Given the description of an element on the screen output the (x, y) to click on. 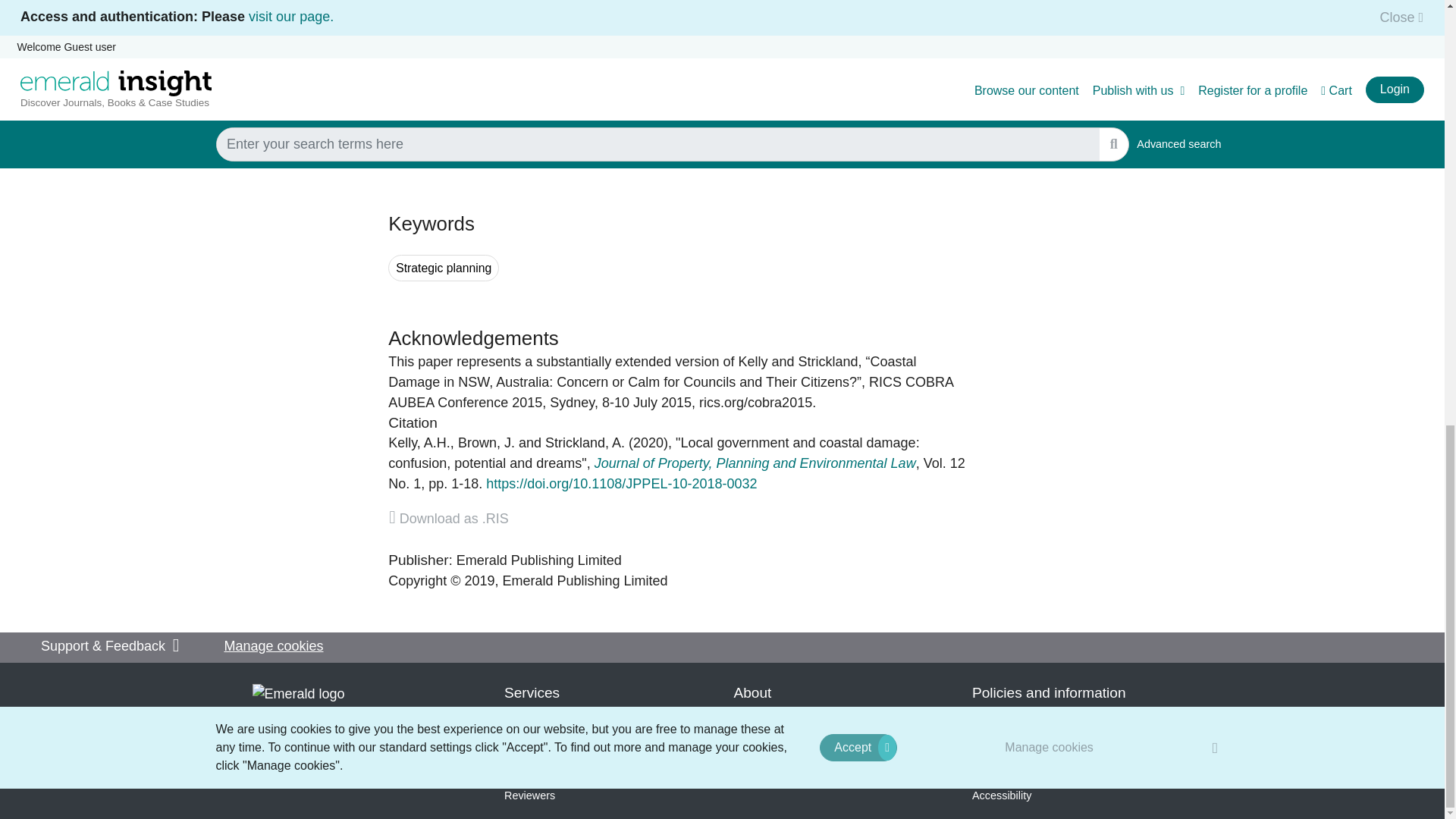
Andrew H. Kelly (418, 442)
Aaron Strickland (584, 442)
Jasper Brown (486, 442)
Search for keyword Strategic planning (443, 267)
